Given the description of an element on the screen output the (x, y) to click on. 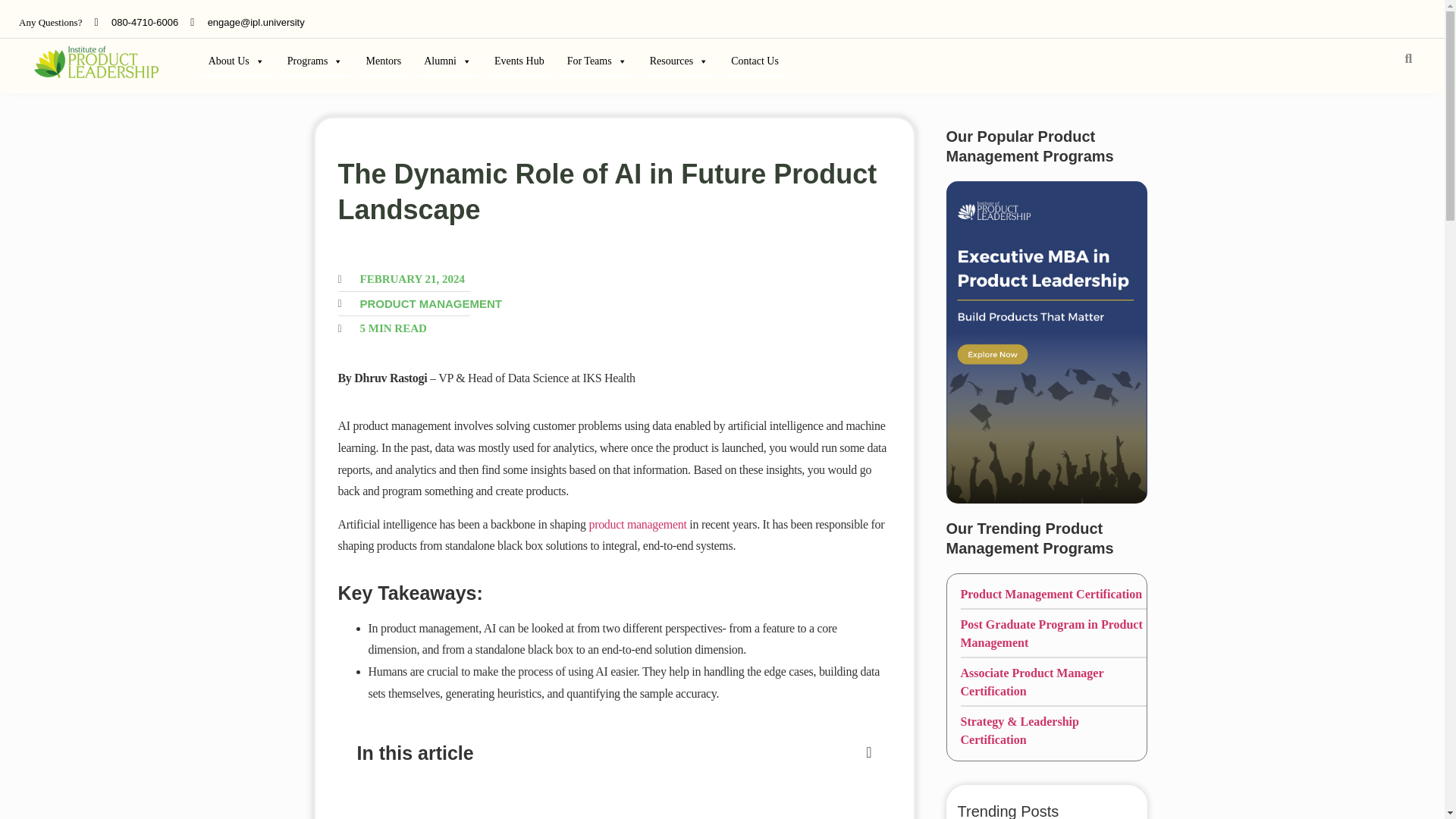
Programs (314, 60)
About Us (236, 60)
080-4710-6006 (144, 21)
